Given the description of an element on the screen output the (x, y) to click on. 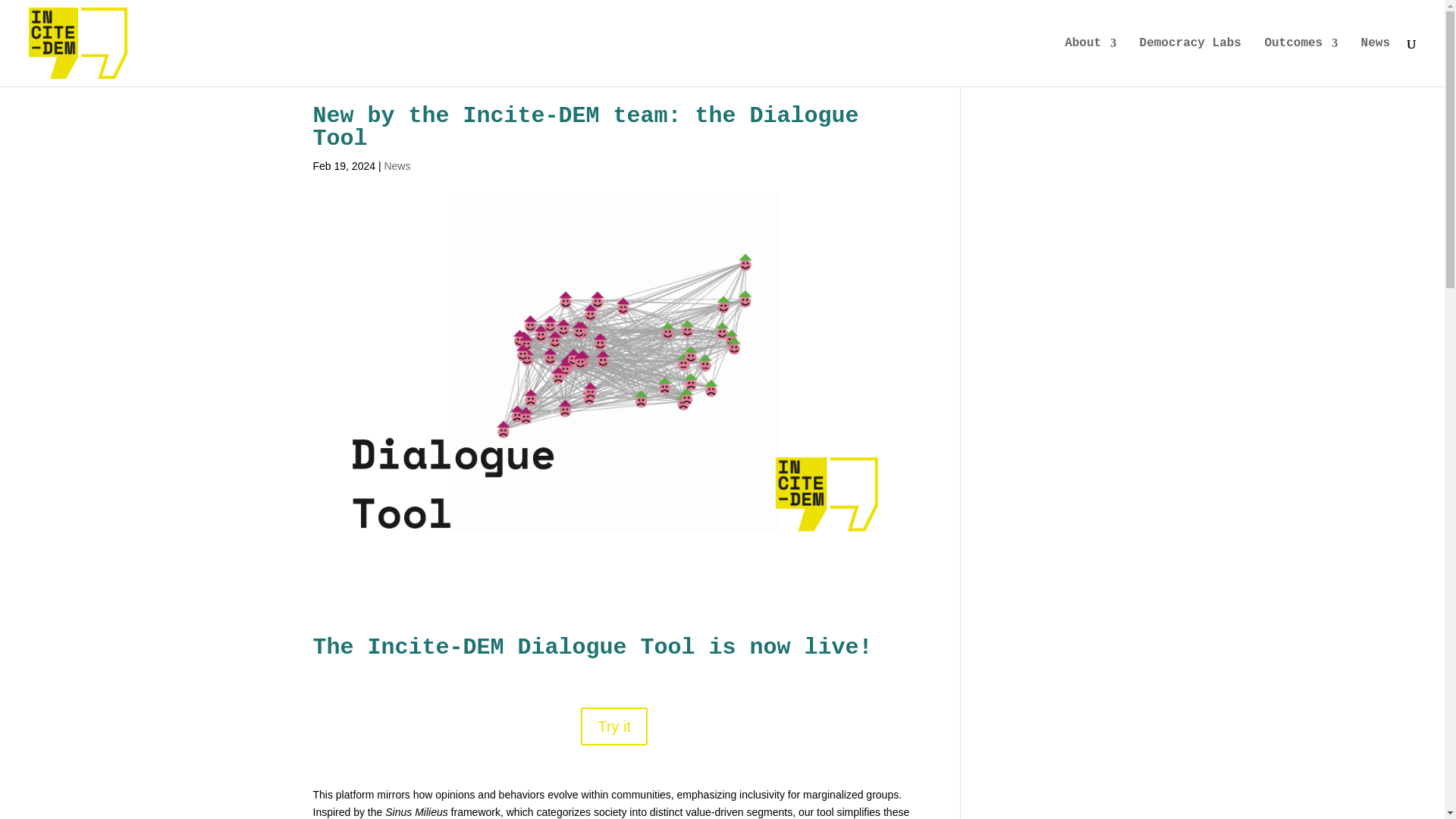
Democracy Labs (1190, 61)
About (1090, 61)
News (397, 165)
Outcomes (1300, 61)
Try it (613, 726)
